Given the description of an element on the screen output the (x, y) to click on. 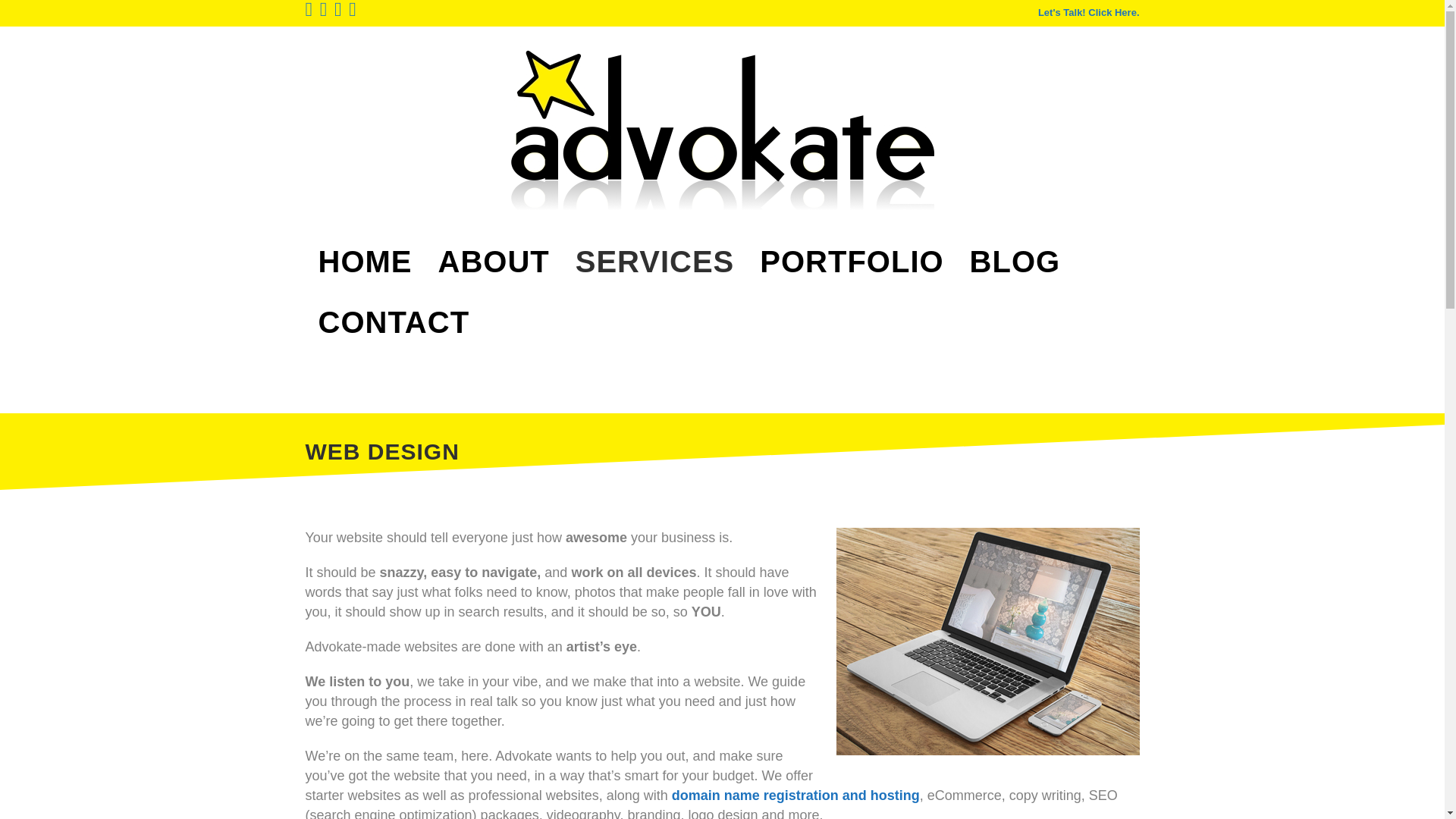
Let's Talk! Click Here. (1089, 12)
Visit Advokate Web Design on Facebook (308, 12)
Visit Advokate Web Design on LinkedIn (338, 12)
Visit Advokate Web Design on Twitter (352, 12)
SERVICES (655, 260)
PORTFOLIO (851, 260)
Visit Advokate Web Design on Instagram (323, 12)
HOME (364, 260)
CONTACT (392, 321)
BLOG (1015, 260)
ABOUT (493, 260)
domain name registration and hosting (795, 795)
